Given the description of an element on the screen output the (x, y) to click on. 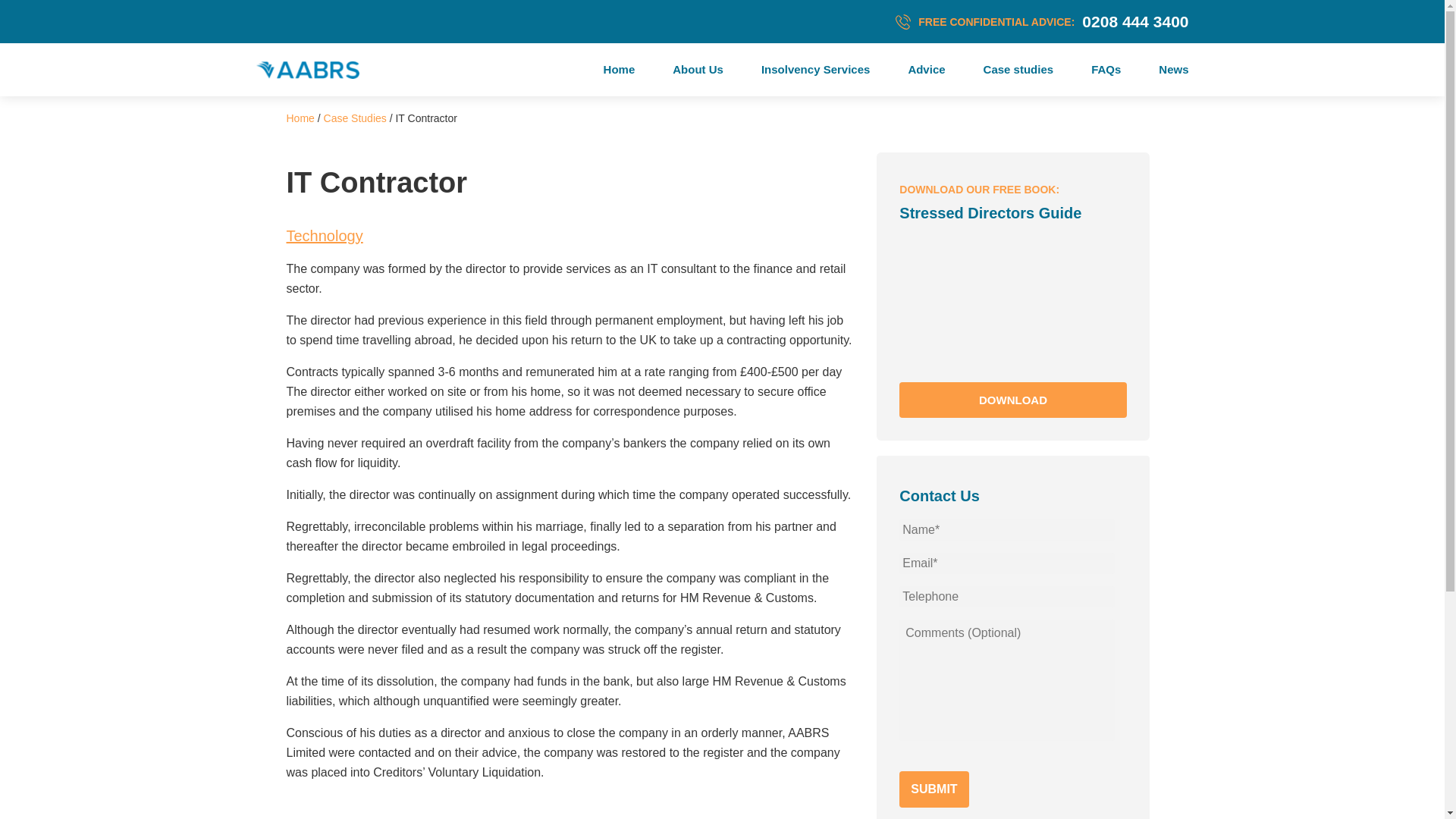
FAQs (1105, 68)
Submit (933, 789)
Advice (925, 68)
News (1173, 68)
Insolvency Services (722, 21)
Case studies (815, 68)
About Us (1019, 68)
DOWNLOAD (697, 68)
Technology (1012, 399)
Home (332, 235)
Case Studies (300, 118)
Home (355, 118)
Submit (1012, 296)
